Given the description of an element on the screen output the (x, y) to click on. 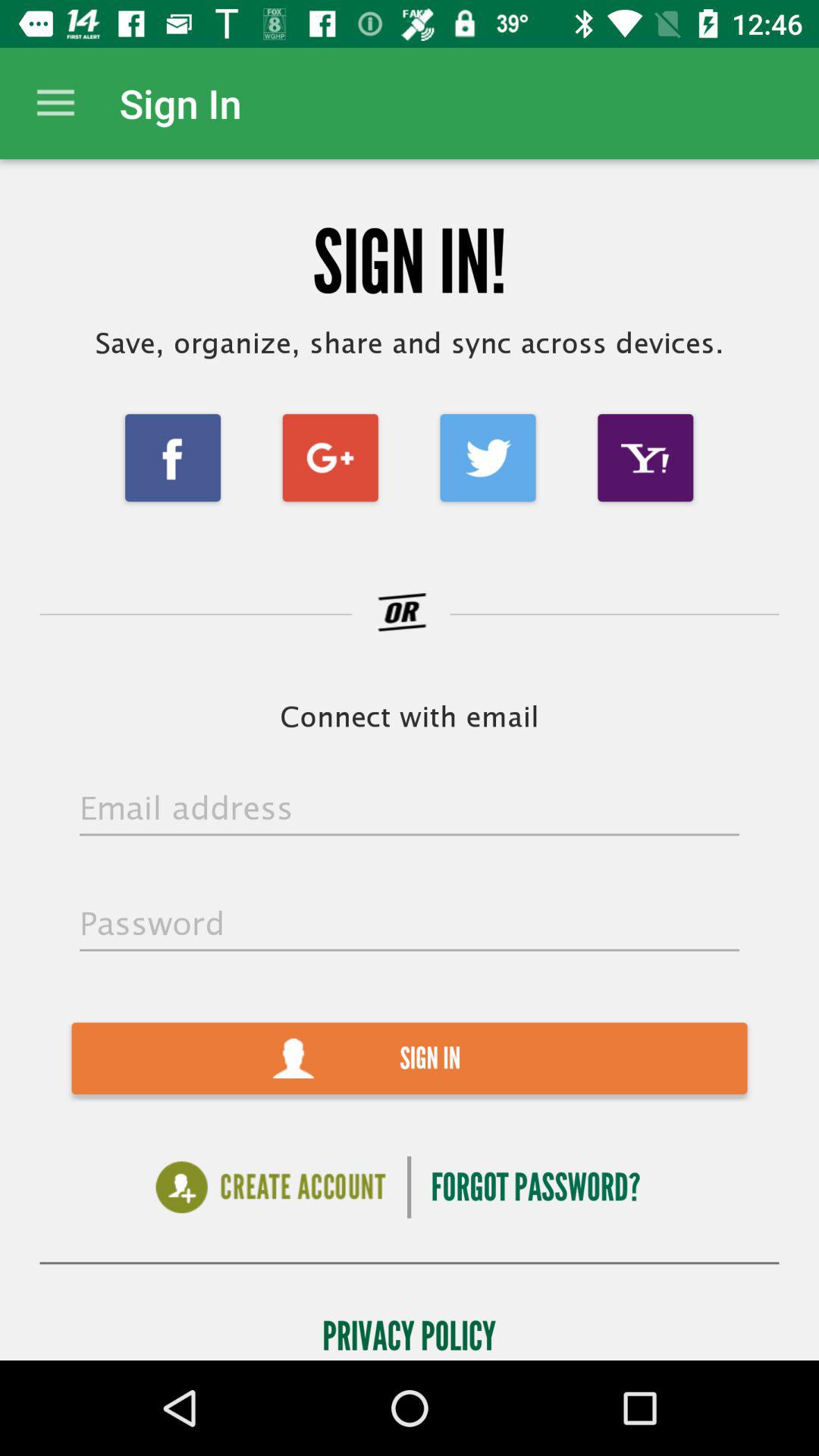
facebook (172, 457)
